Given the description of an element on the screen output the (x, y) to click on. 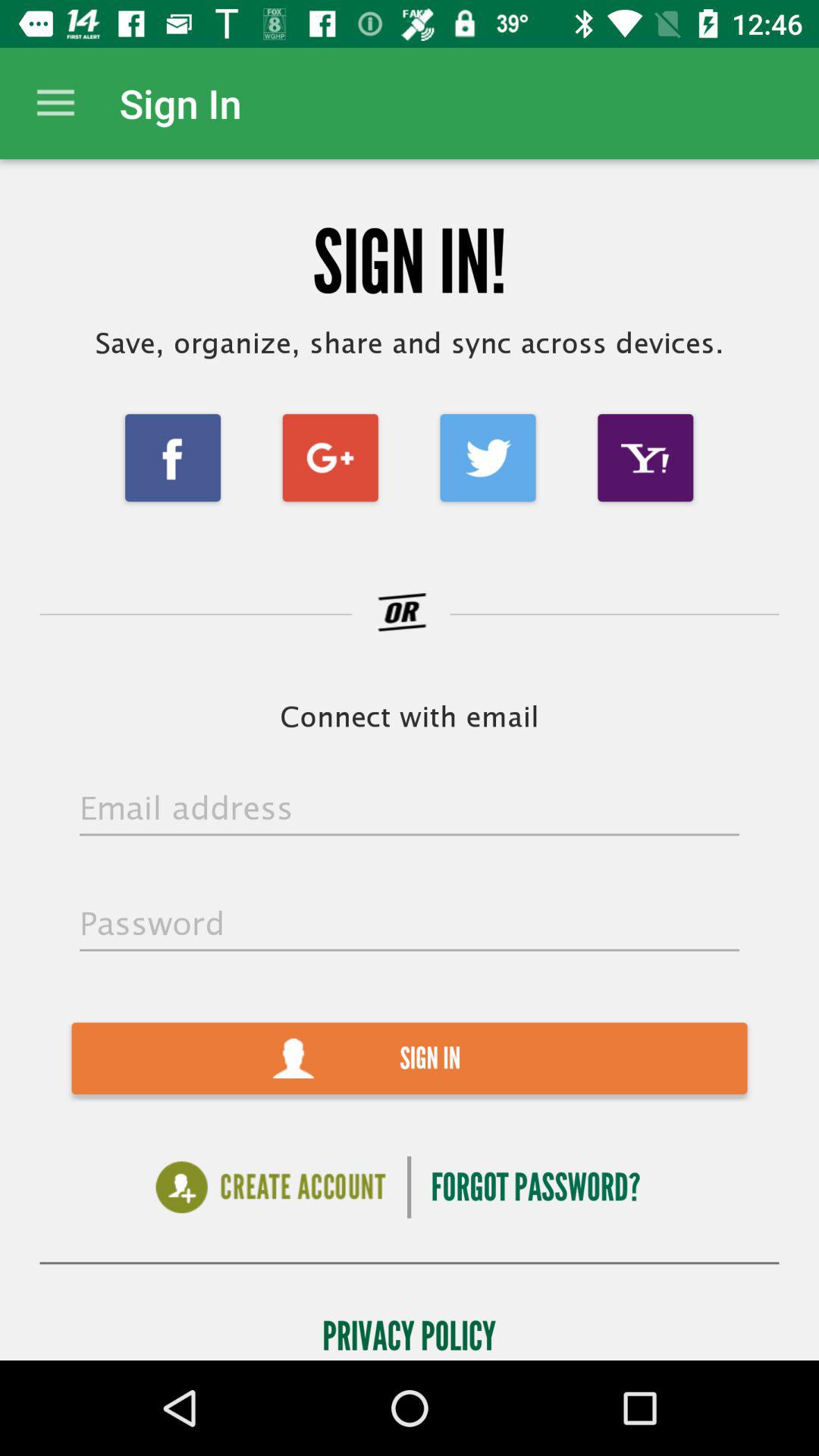
facebook (172, 457)
